Given the description of an element on the screen output the (x, y) to click on. 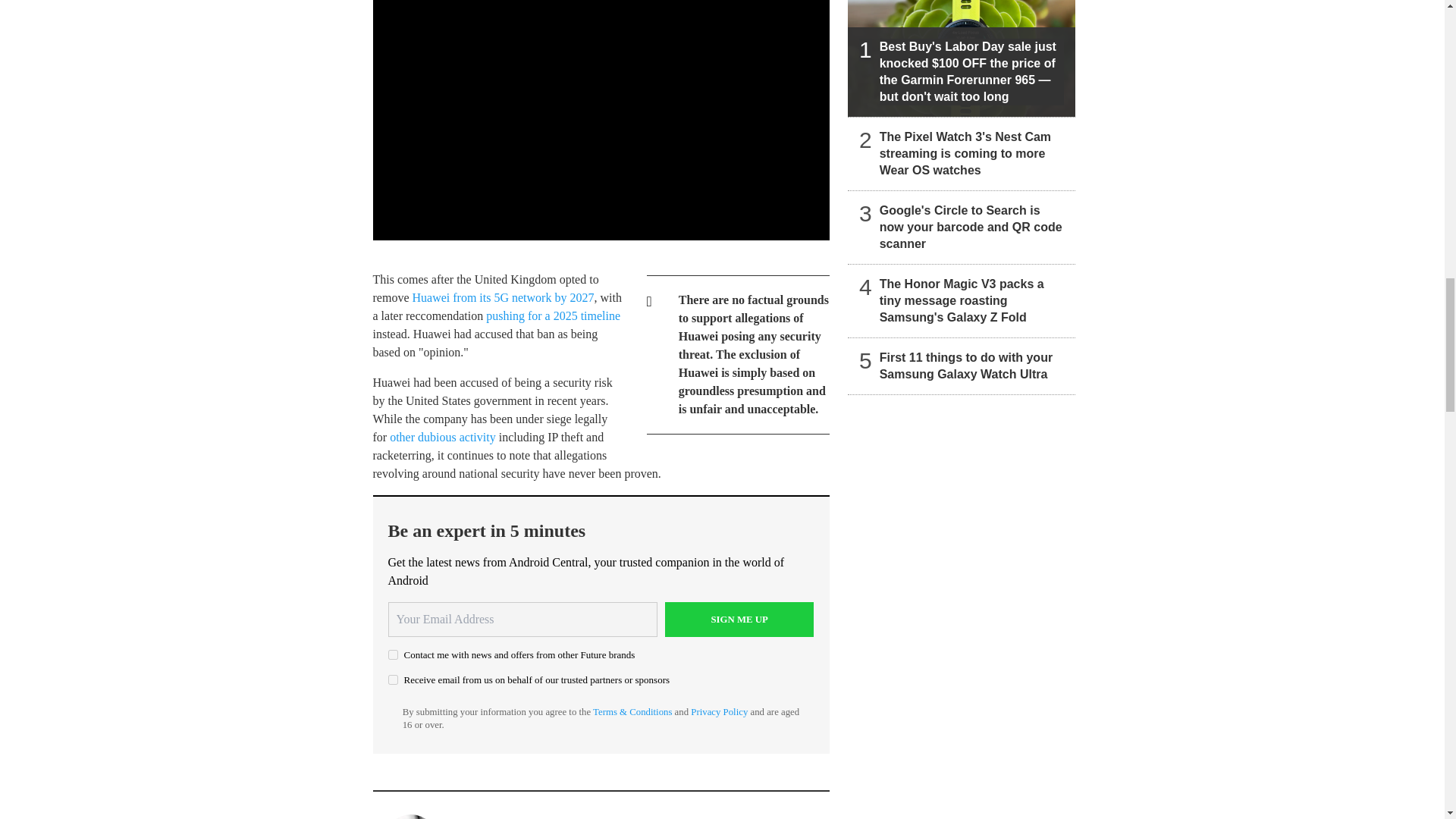
Sign me up (739, 619)
on (392, 679)
on (392, 655)
